Given the description of an element on the screen output the (x, y) to click on. 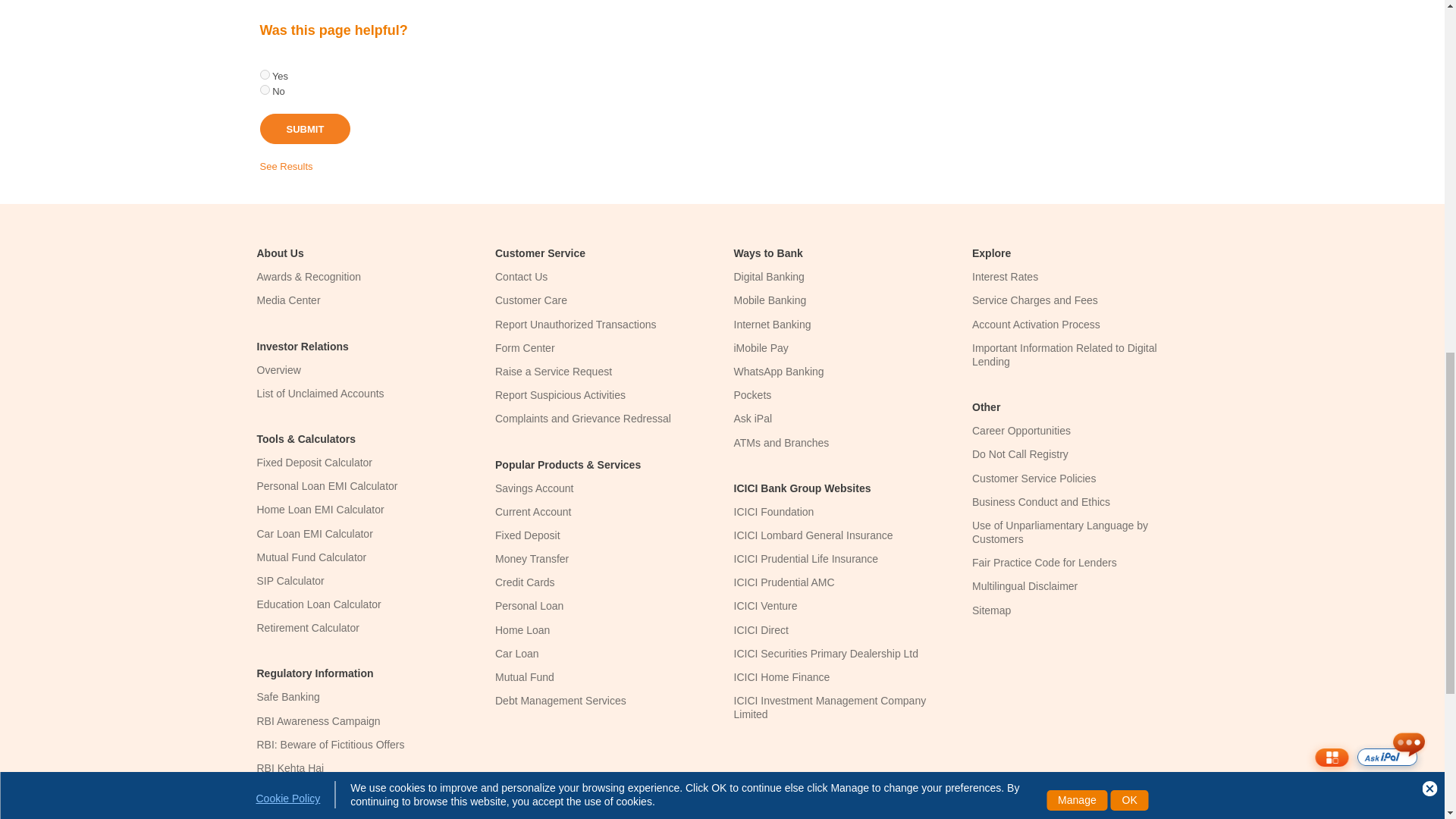
No (264, 90)
Media Center (288, 300)
Submit (304, 128)
Yes (264, 74)
